Given the description of an element on the screen output the (x, y) to click on. 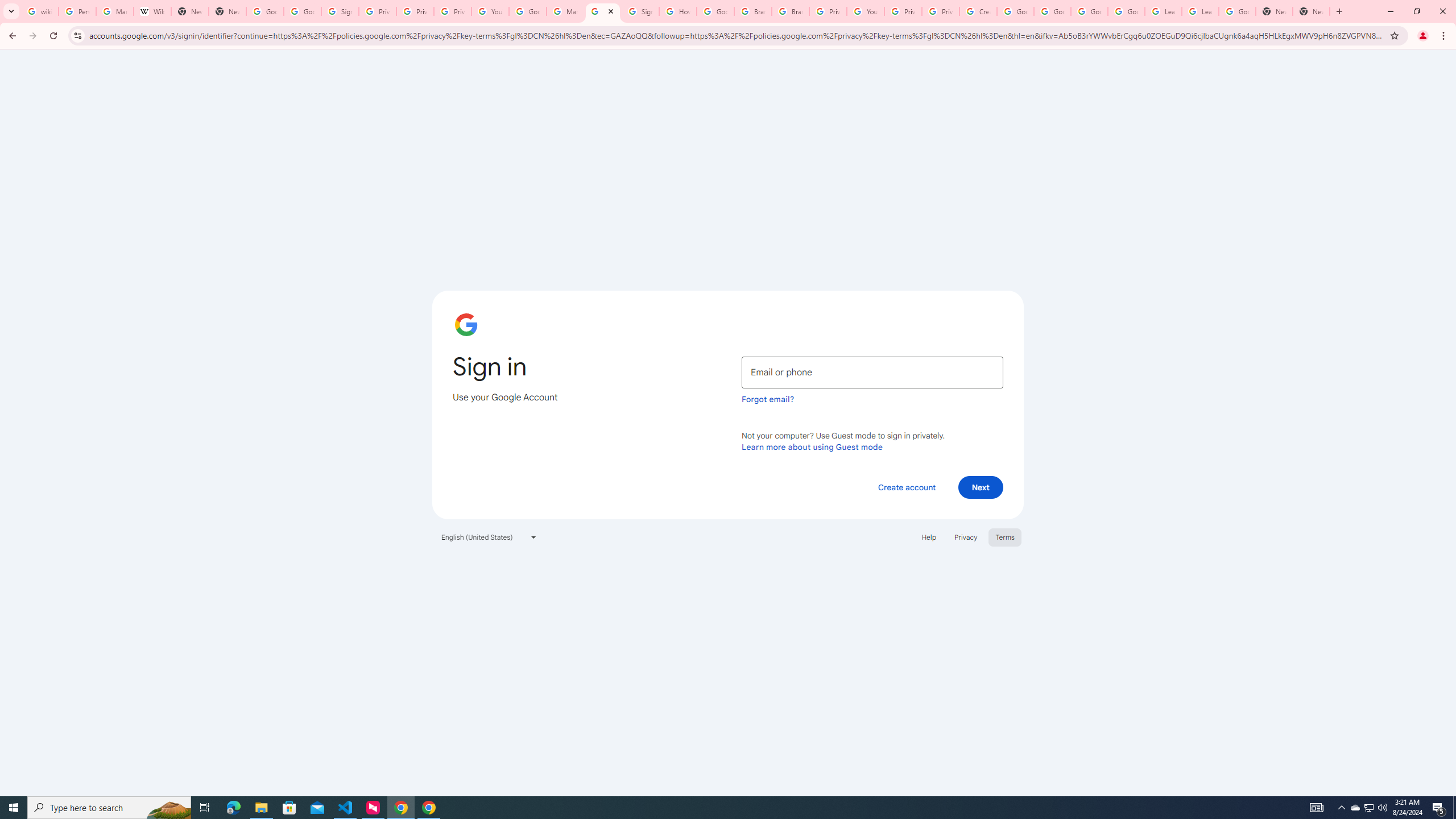
Sign in - Google Accounts (639, 11)
